Given the description of an element on the screen output the (x, y) to click on. 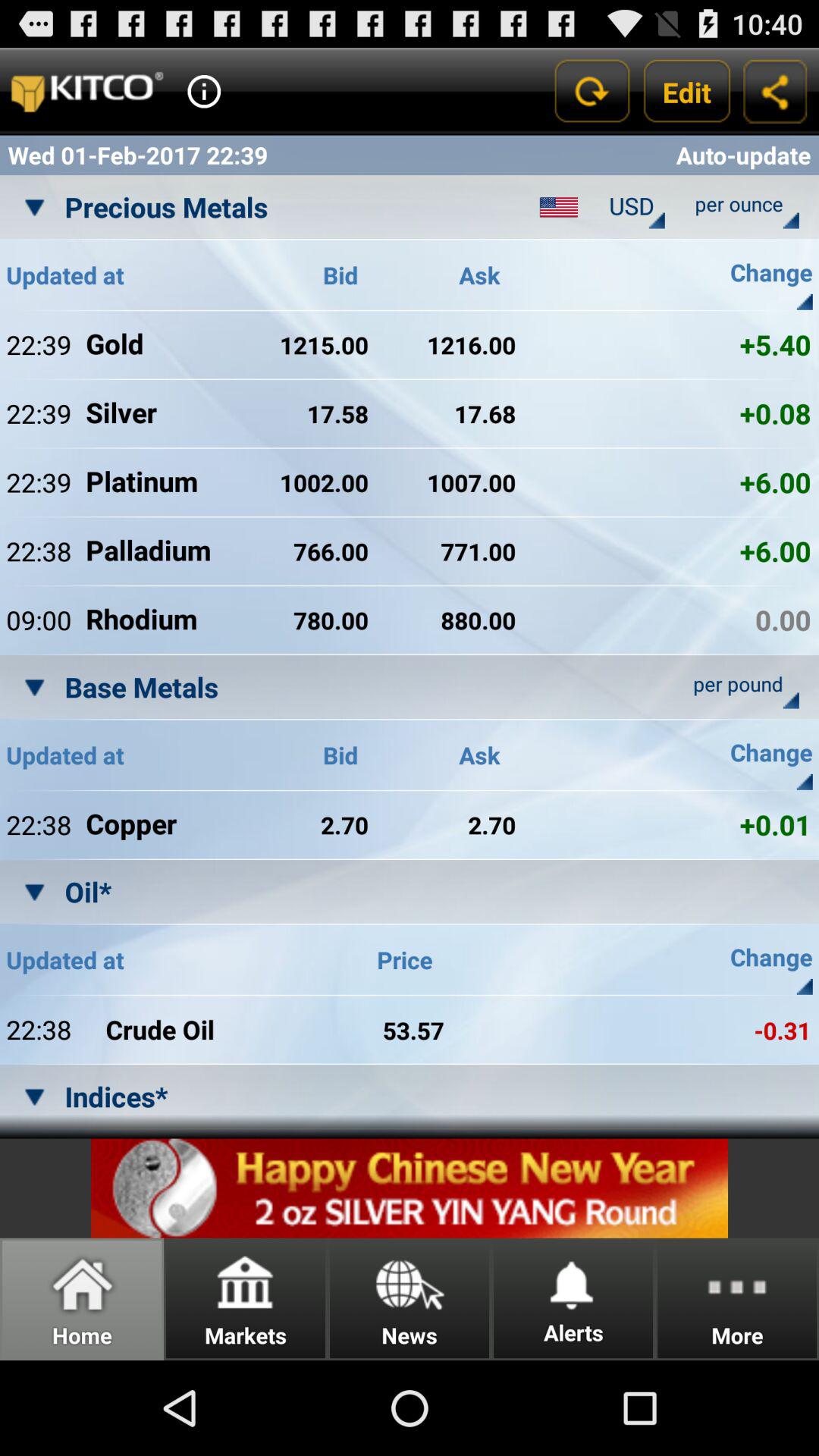
share this page (775, 91)
